Given the description of an element on the screen output the (x, y) to click on. 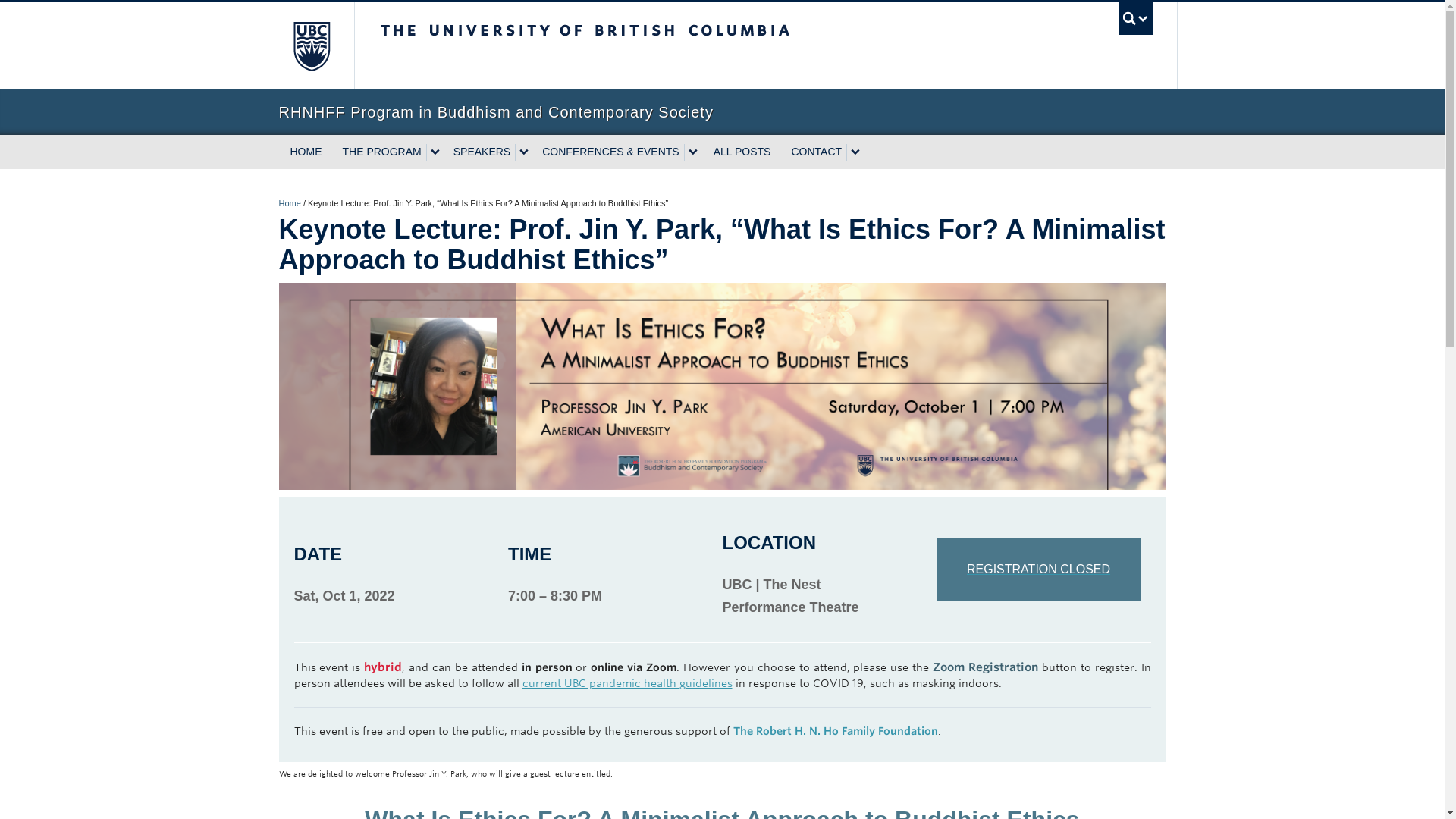
RHNHFF Program in Buddhism and Contemporary Society (722, 112)
The University of British Columbia (309, 45)
SPEAKERS (479, 151)
RHNHFF Program in Buddhism and Contemporary Society (290, 203)
REGISTRATION CLOSED (1038, 569)
THE PROGRAM (379, 151)
UBC Search (1135, 18)
HOME (306, 151)
CONTACT (814, 151)
Home (290, 203)
The University of British Columbia (635, 45)
RHNHFF Program in Buddhism and Contemporary Society (722, 112)
ALL POSTS (742, 151)
